Given the description of an element on the screen output the (x, y) to click on. 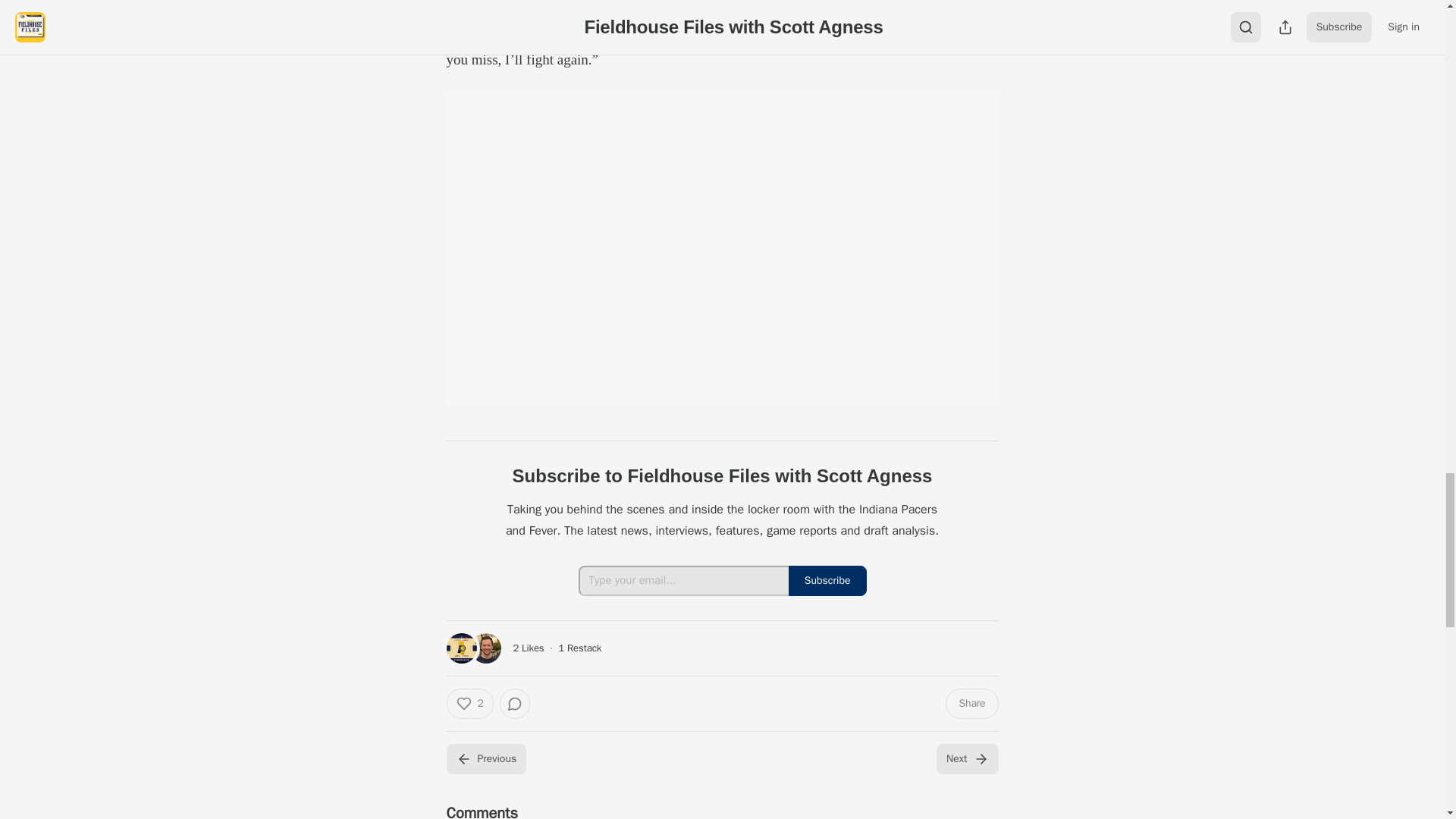
Subscribe (827, 580)
